Given the description of an element on the screen output the (x, y) to click on. 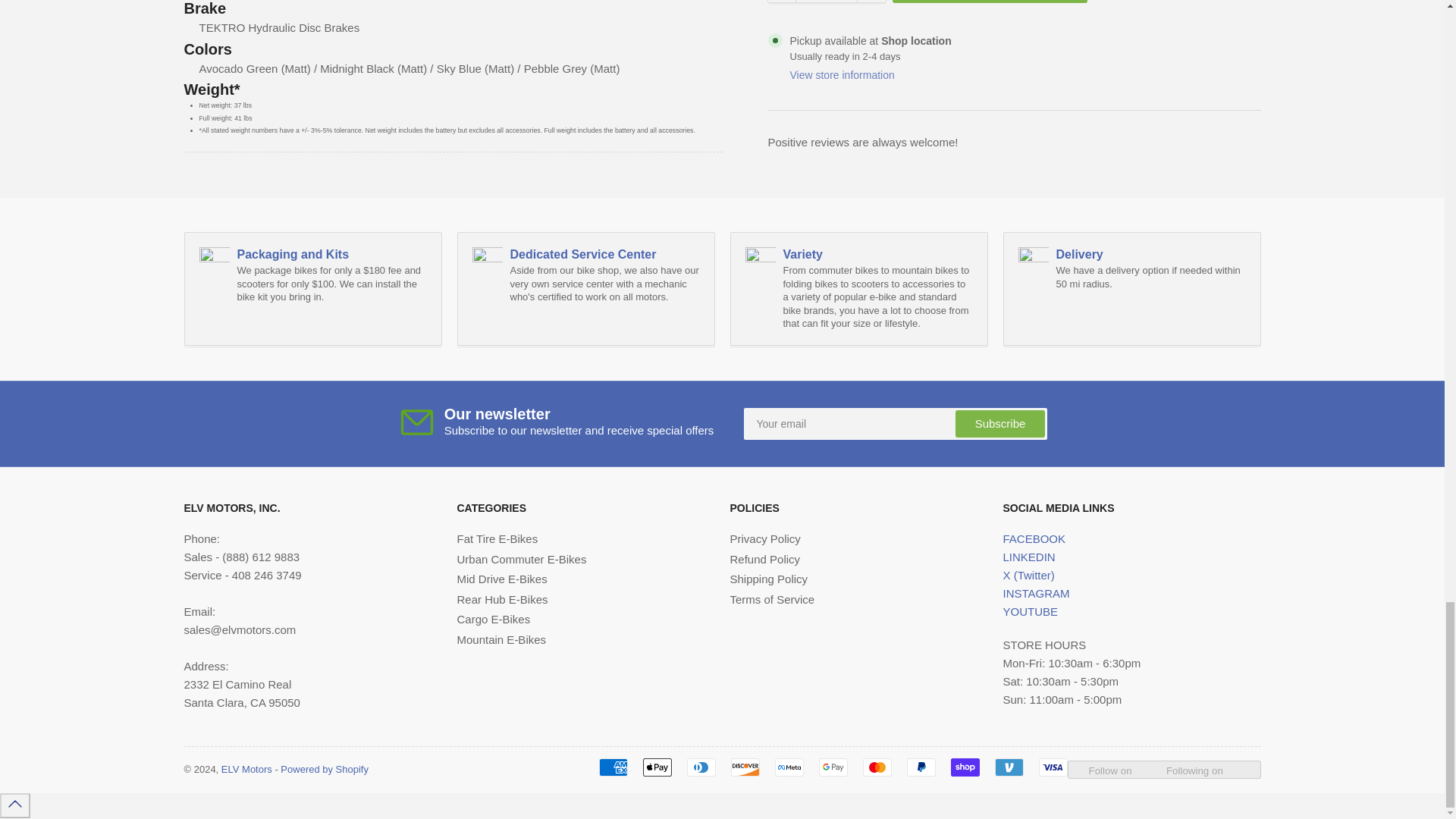
PayPal (921, 767)
Diners Club (701, 767)
Visa (1053, 767)
Discover (745, 767)
Google Pay (832, 767)
Apple Pay (657, 767)
Meta Pay (788, 767)
Mastercard (877, 767)
American Express (612, 767)
Shop Pay (964, 767)
